Given the description of an element on the screen output the (x, y) to click on. 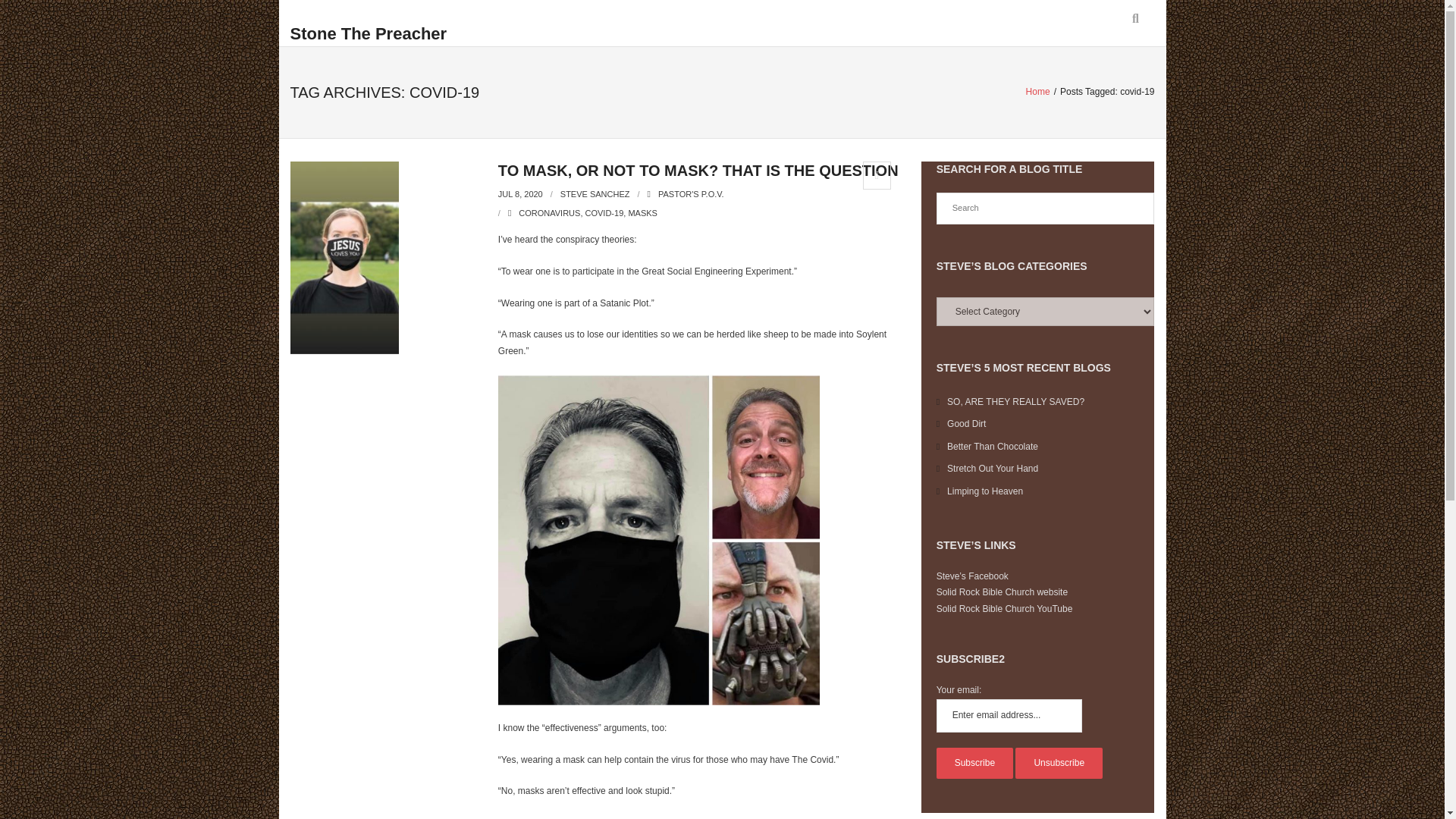
Stone The Preacher (367, 30)
Permalink to To Mask, or Not to Mask? That is the Question (697, 170)
Subscribe (974, 763)
JUL 8, 2020 (520, 194)
TO MASK, OR NOT TO MASK? THAT IS THE QUESTION (697, 170)
To Mask, or Not to Mask? That is the Question (520, 194)
Stone The Preacher (367, 33)
PASTOR'S P.O.V. (690, 194)
Home (1037, 91)
COVID-19 (604, 212)
